Given the description of an element on the screen output the (x, y) to click on. 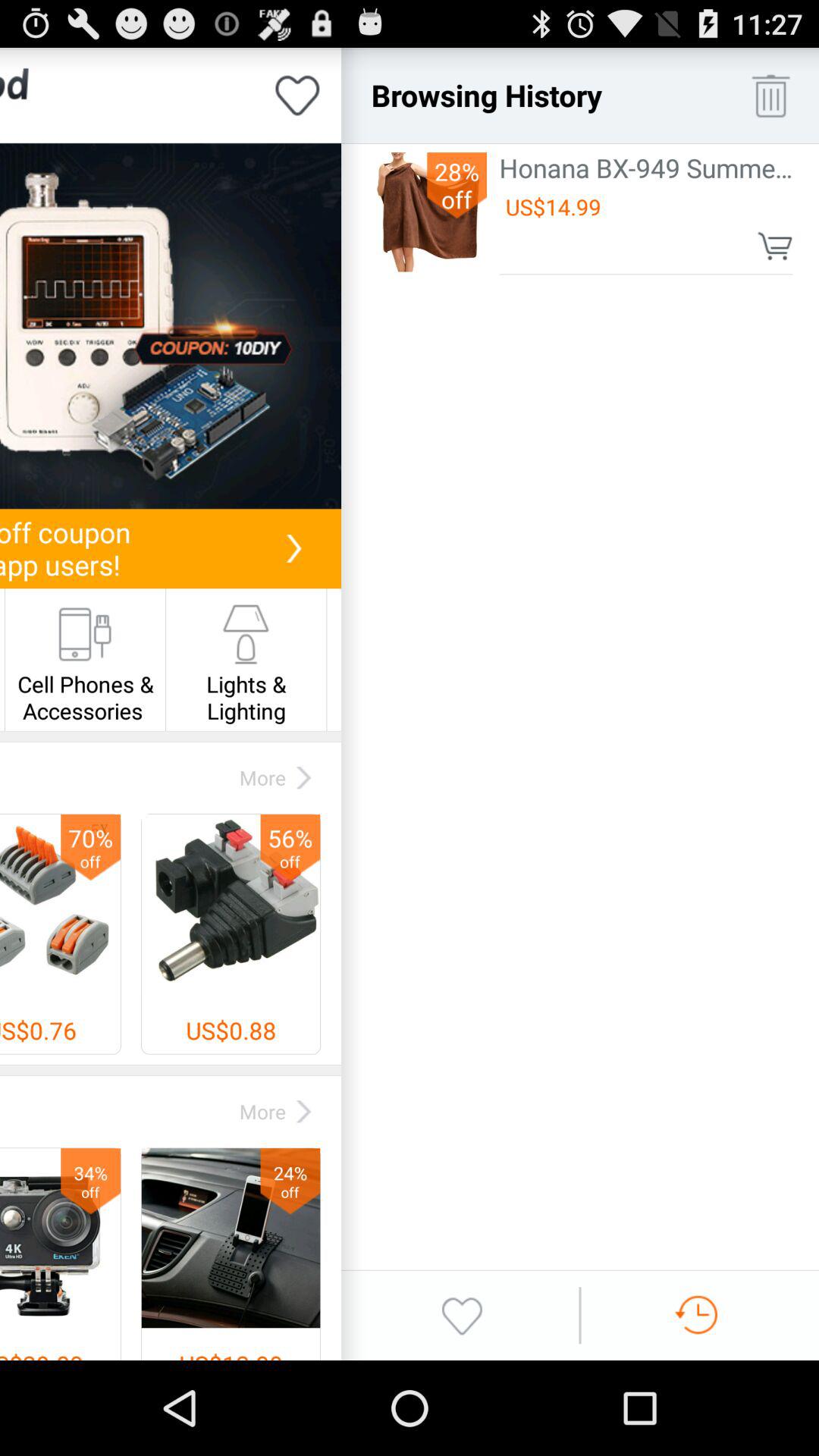
go to cart icon (774, 245)
select delete option which is right corner of the top (770, 95)
click on right corner image along with text  24 off at the bottom (230, 1237)
